Given the description of an element on the screen output the (x, y) to click on. 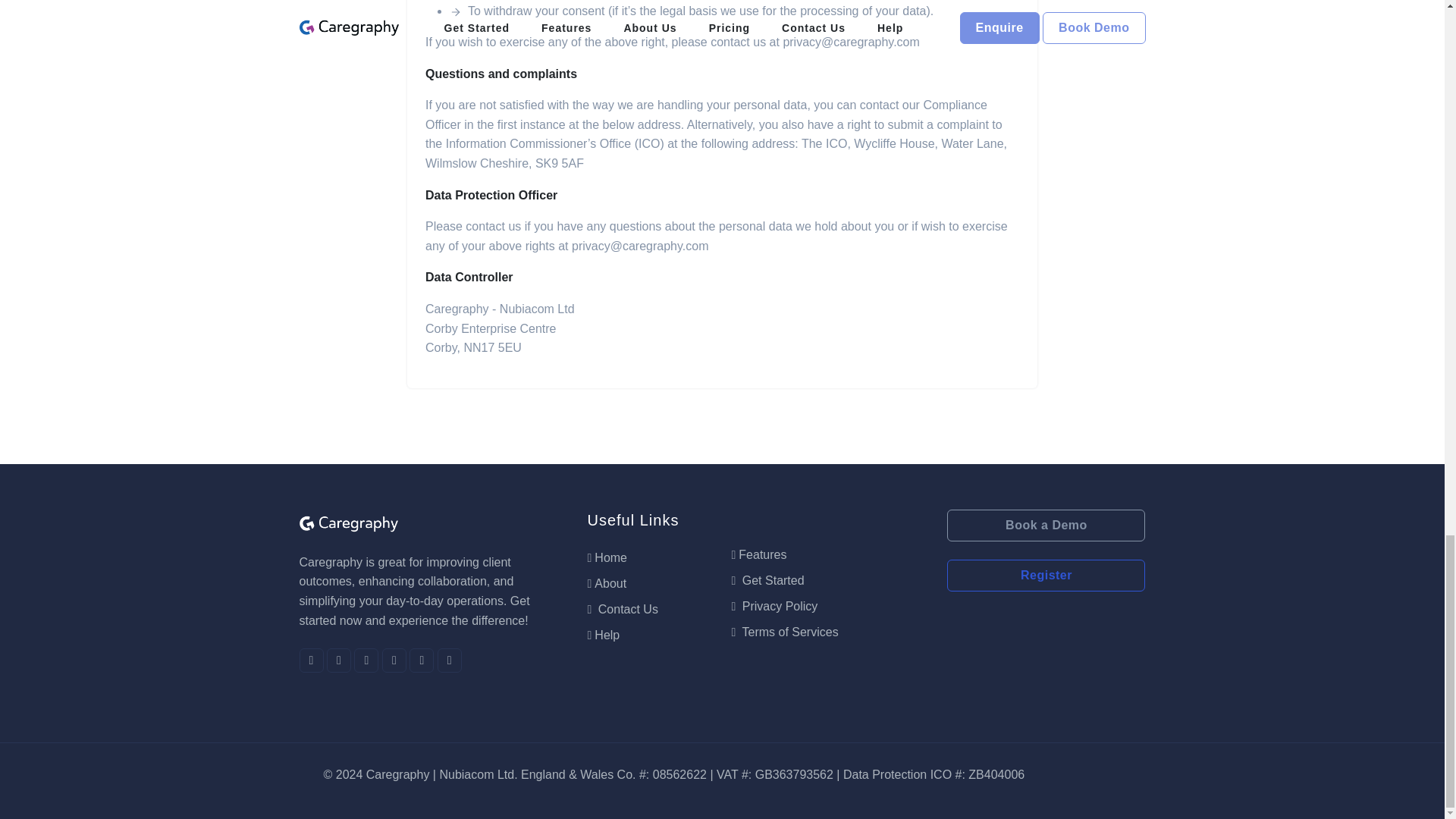
Terms of Services (784, 631)
Home (606, 557)
Help (603, 634)
Register (1045, 575)
Get Started (766, 580)
Contact Us (622, 608)
About (606, 583)
Features (758, 554)
Book a Demo (1045, 525)
Privacy Policy (773, 605)
